Given the description of an element on the screen output the (x, y) to click on. 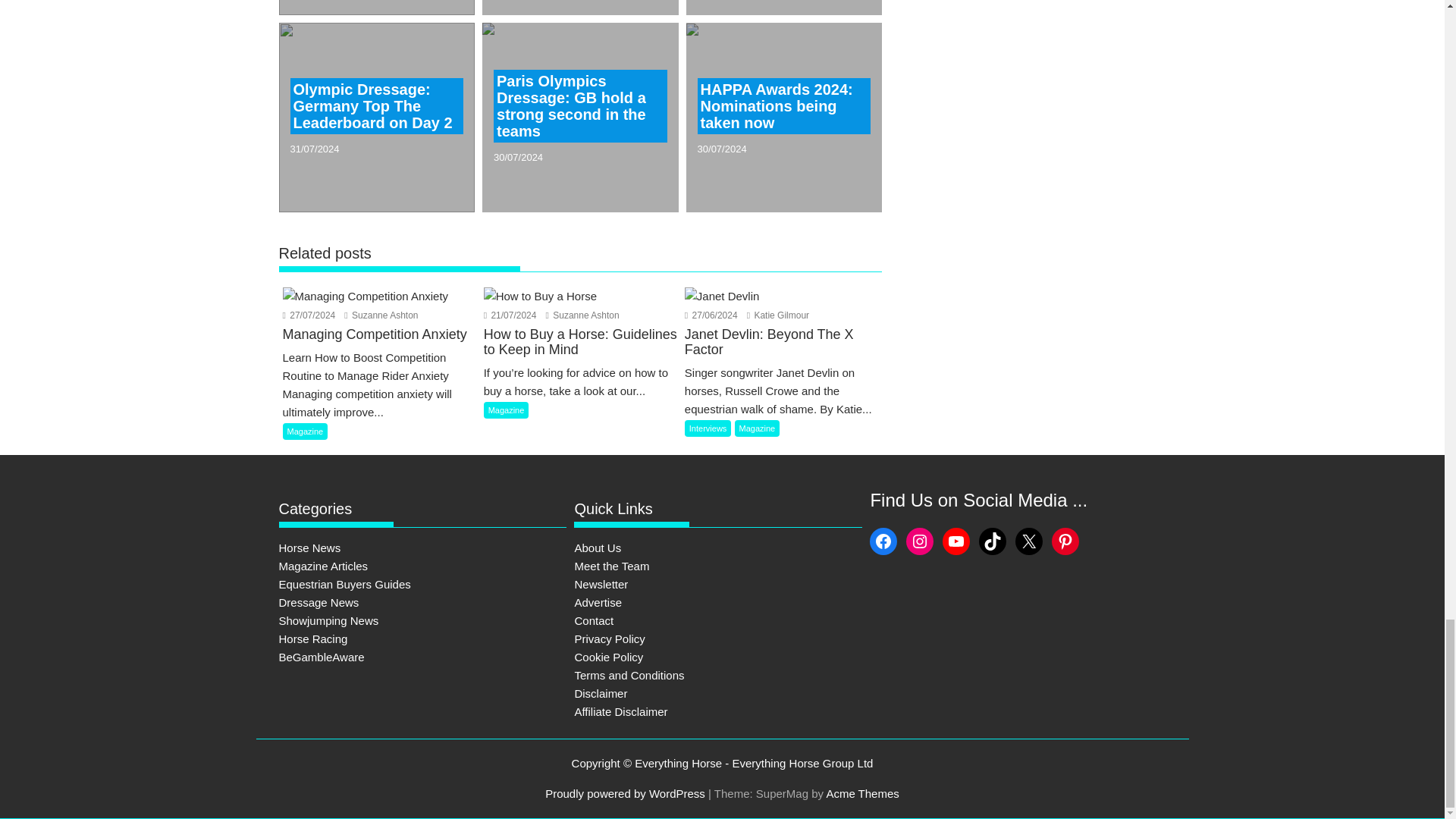
Suzanne Ashton (380, 315)
Suzanne Ashton (583, 315)
Katie Gilmour (777, 315)
